Given the description of an element on the screen output the (x, y) to click on. 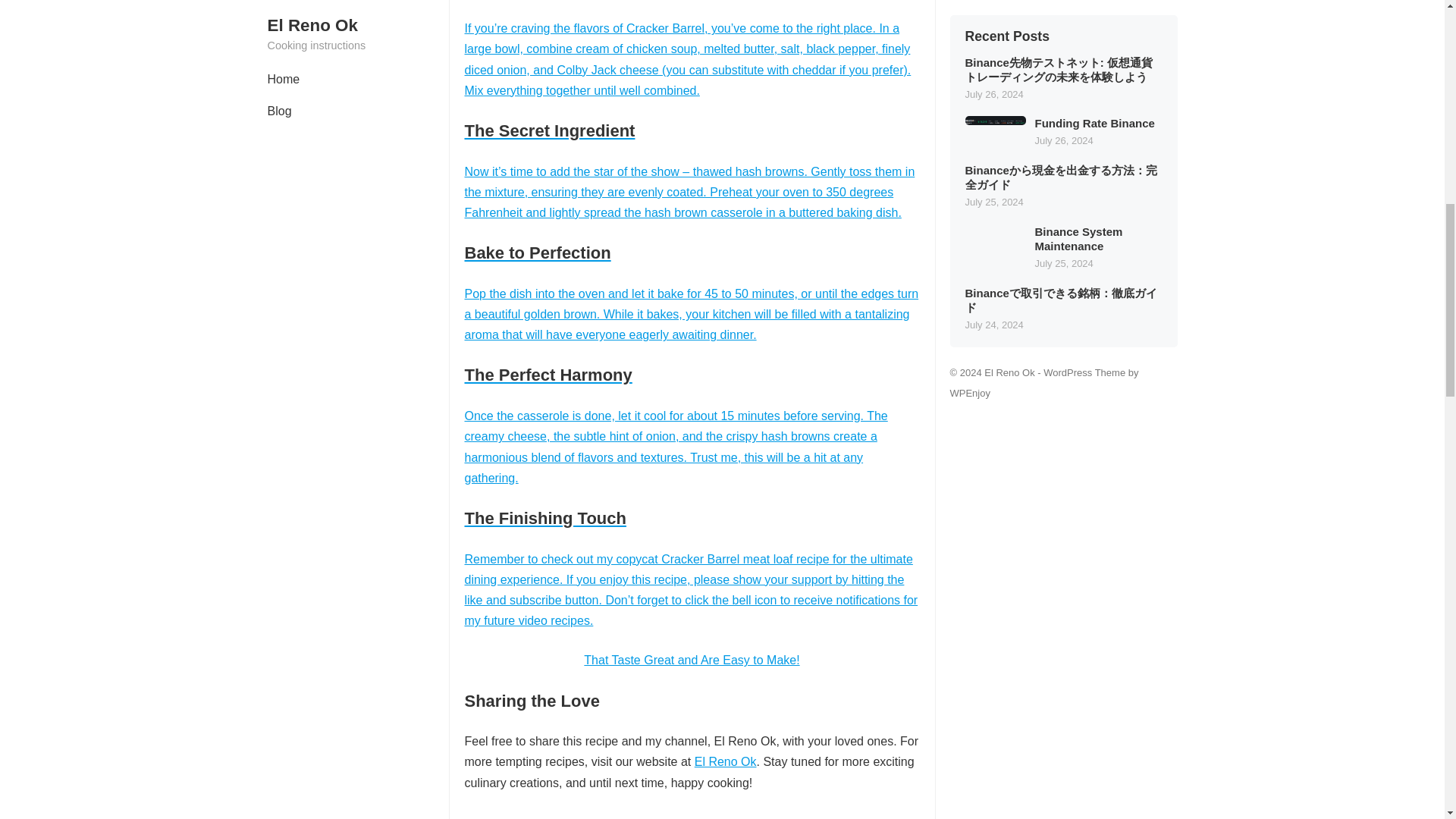
Cracker Barrel Meat Loaf Recipe (691, 815)
That Taste Great and Are Easy to Make! (691, 659)
El Reno Ok (725, 761)
